Given the description of an element on the screen output the (x, y) to click on. 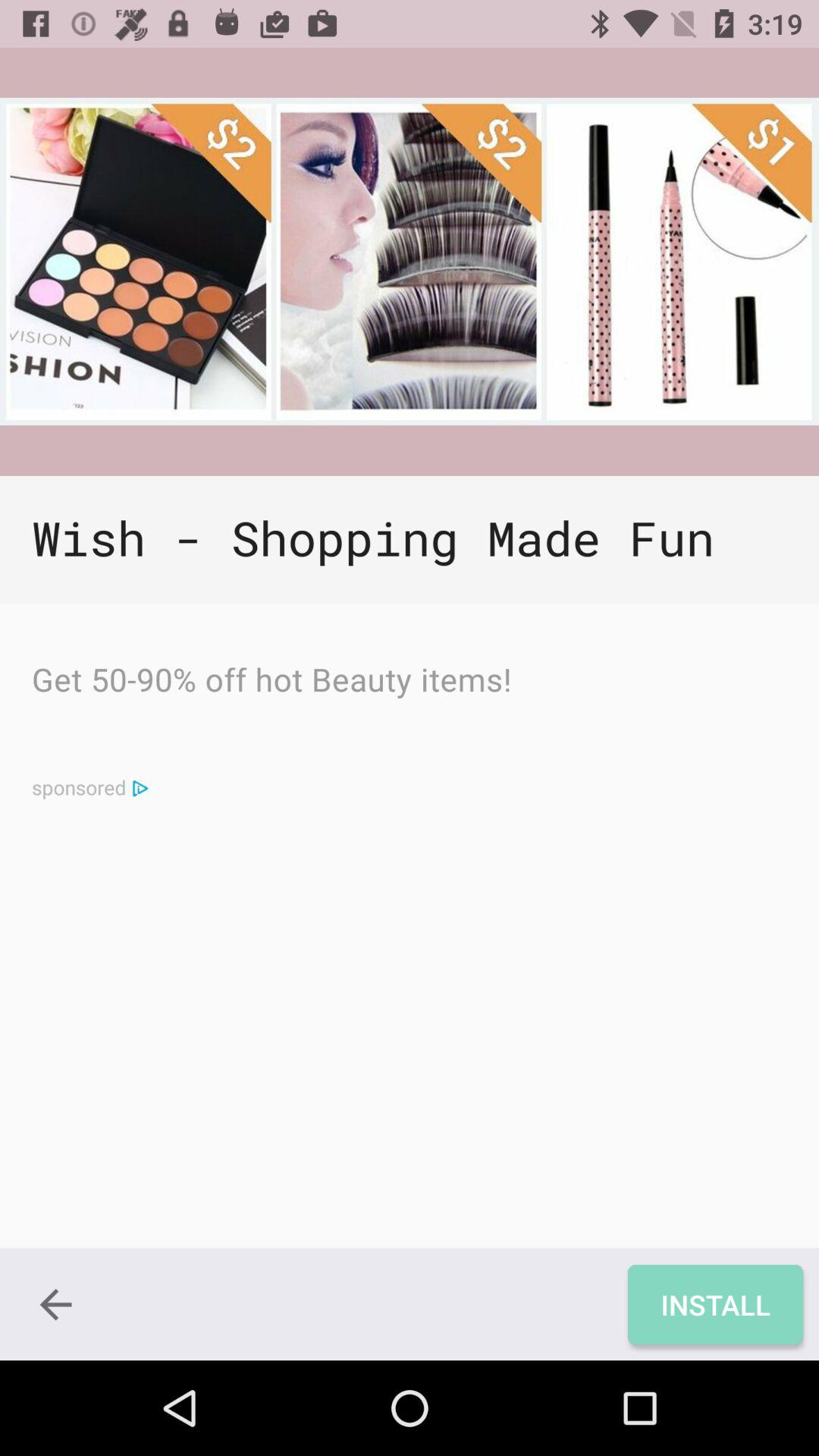
select wish shopping made (409, 540)
